Given the description of an element on the screen output the (x, y) to click on. 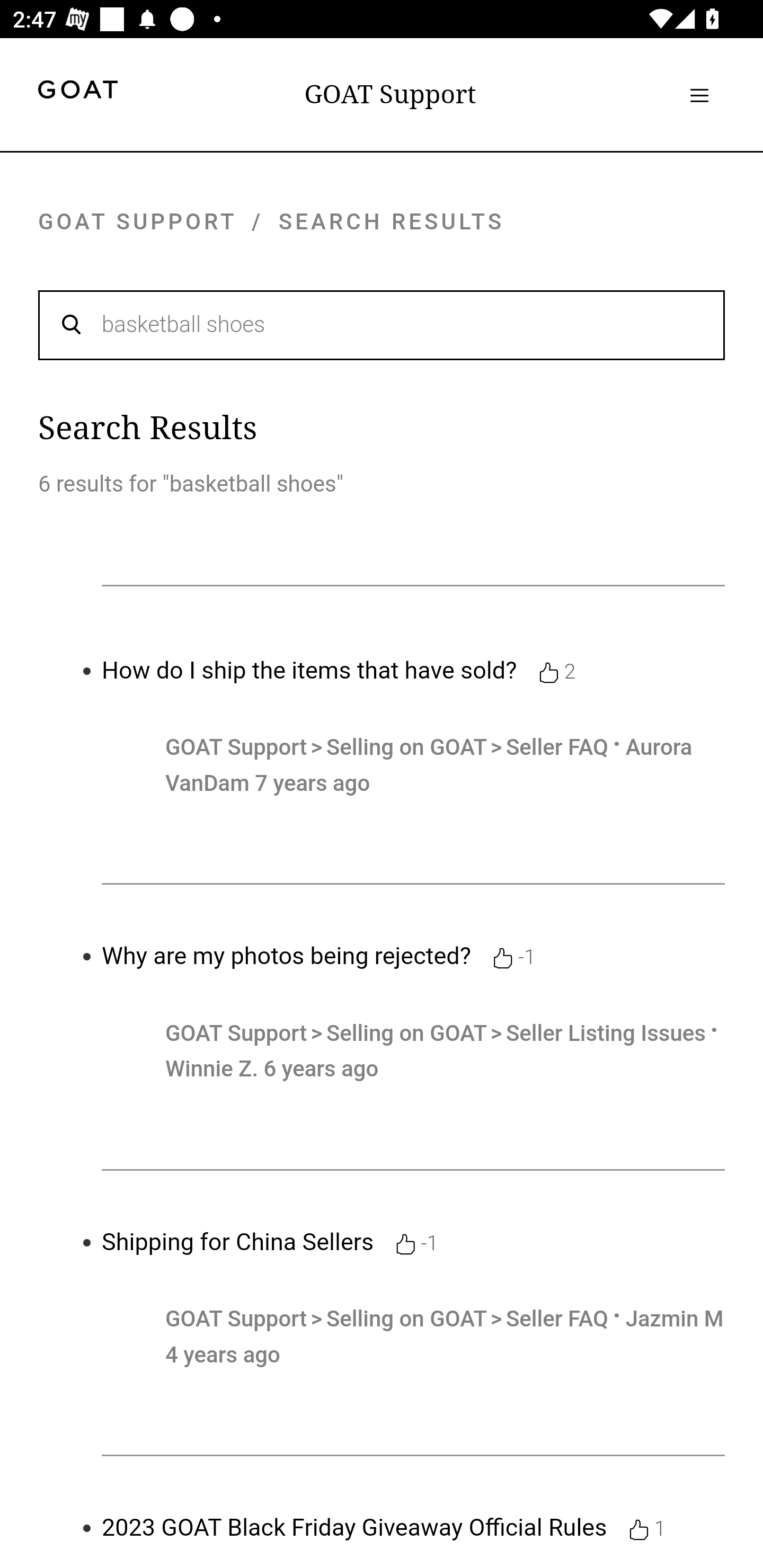
goat header logo (77, 92)
Toggle navigation menu (698, 94)
GOAT Support (389, 94)
GOAT SUPPORT (137, 221)
basketball shoes (381, 324)
How do I ship the items that have sold? (309, 670)
GOAT Support (236, 746)
Selling on GOAT  (408, 746)
Seller FAQ (556, 746)
Why are my photos being rejected? (286, 955)
GOAT Support (236, 1033)
Selling on GOAT  (408, 1033)
Seller Listing Issues (605, 1033)
Shipping for China Sellers (238, 1241)
GOAT Support (236, 1319)
Selling on GOAT  (408, 1319)
Seller FAQ (556, 1319)
2023 GOAT Black Friday Giveaway Official Rules (354, 1527)
